Given the description of an element on the screen output the (x, y) to click on. 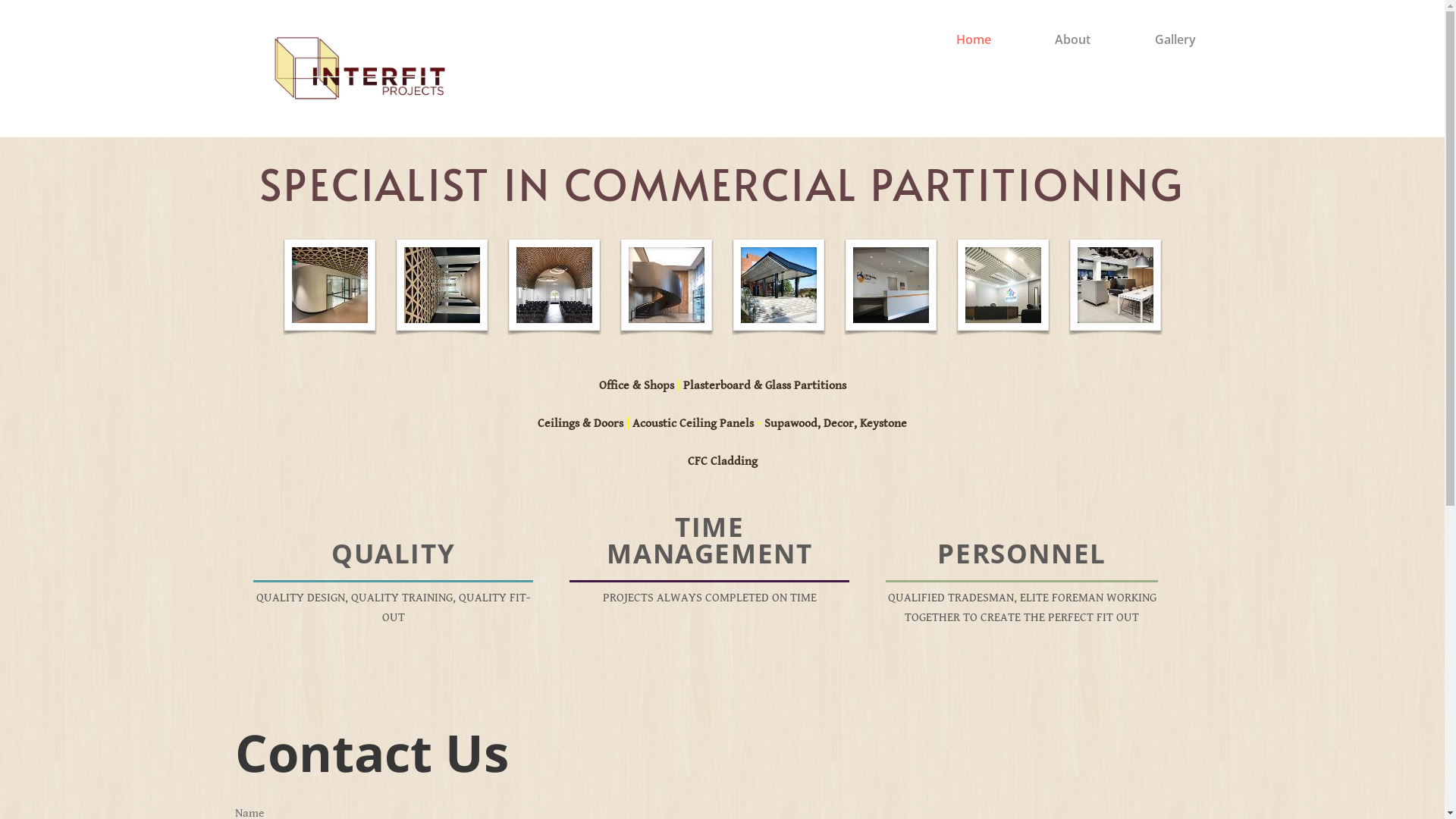
Gallery Element type: text (1174, 39)
Home Element type: text (973, 39)
About Element type: text (1072, 39)
